Given the description of an element on the screen output the (x, y) to click on. 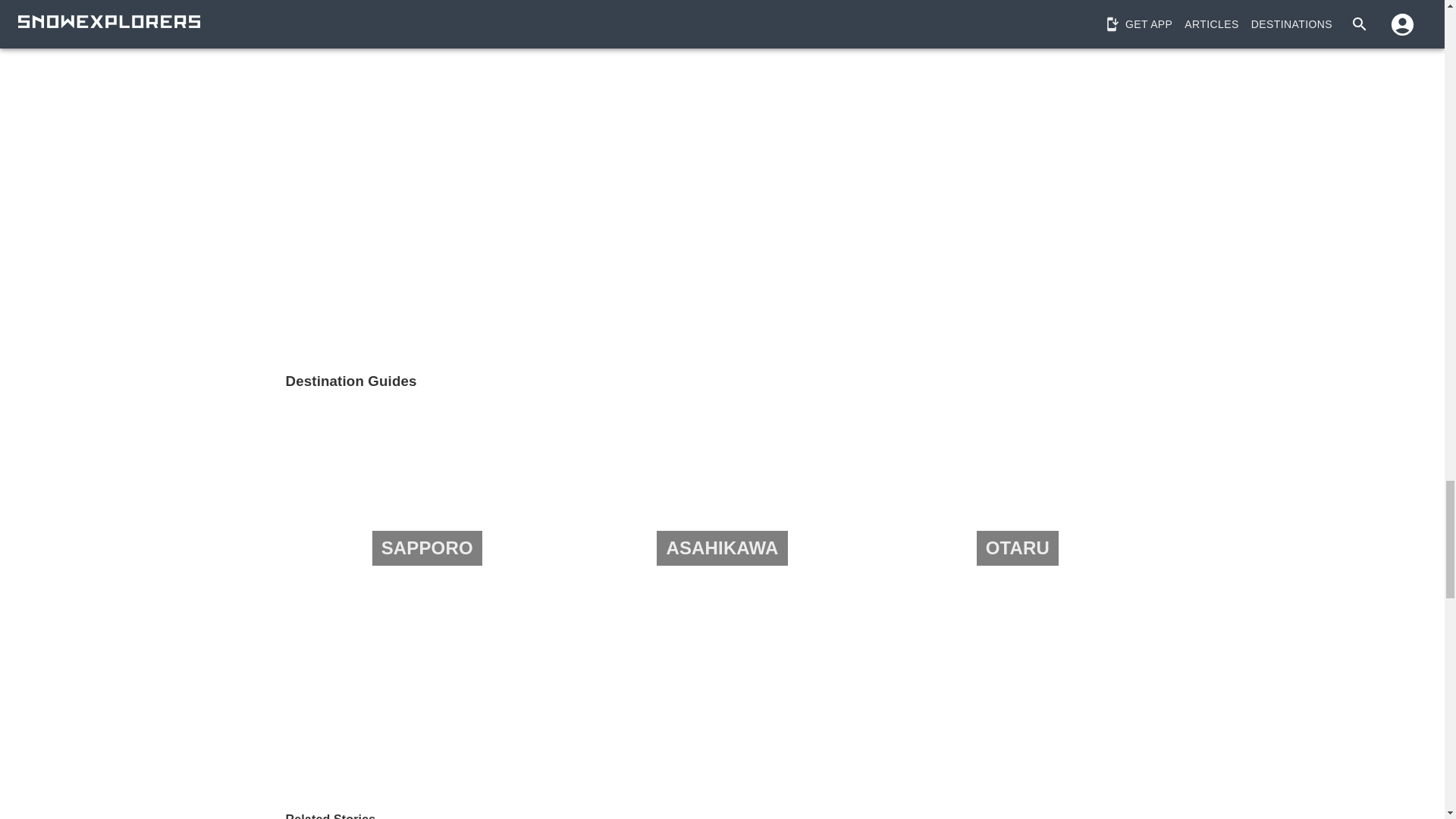
ASAHIKAWA (721, 547)
SAPPORO (426, 547)
OTARU (1017, 547)
